Given the description of an element on the screen output the (x, y) to click on. 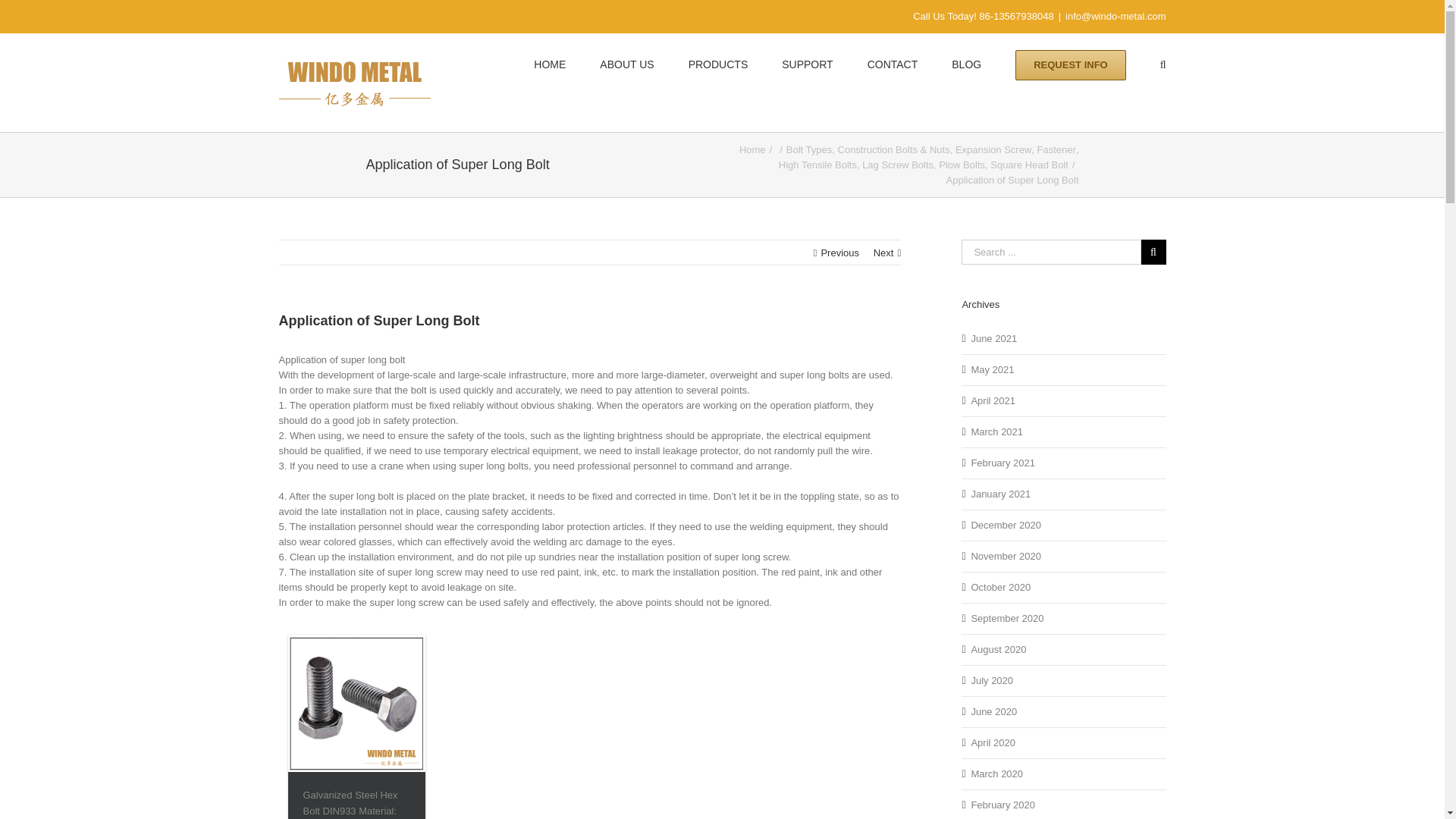
PRODUCTS (718, 64)
REQUEST INFO (1069, 64)
